Given the description of an element on the screen output the (x, y) to click on. 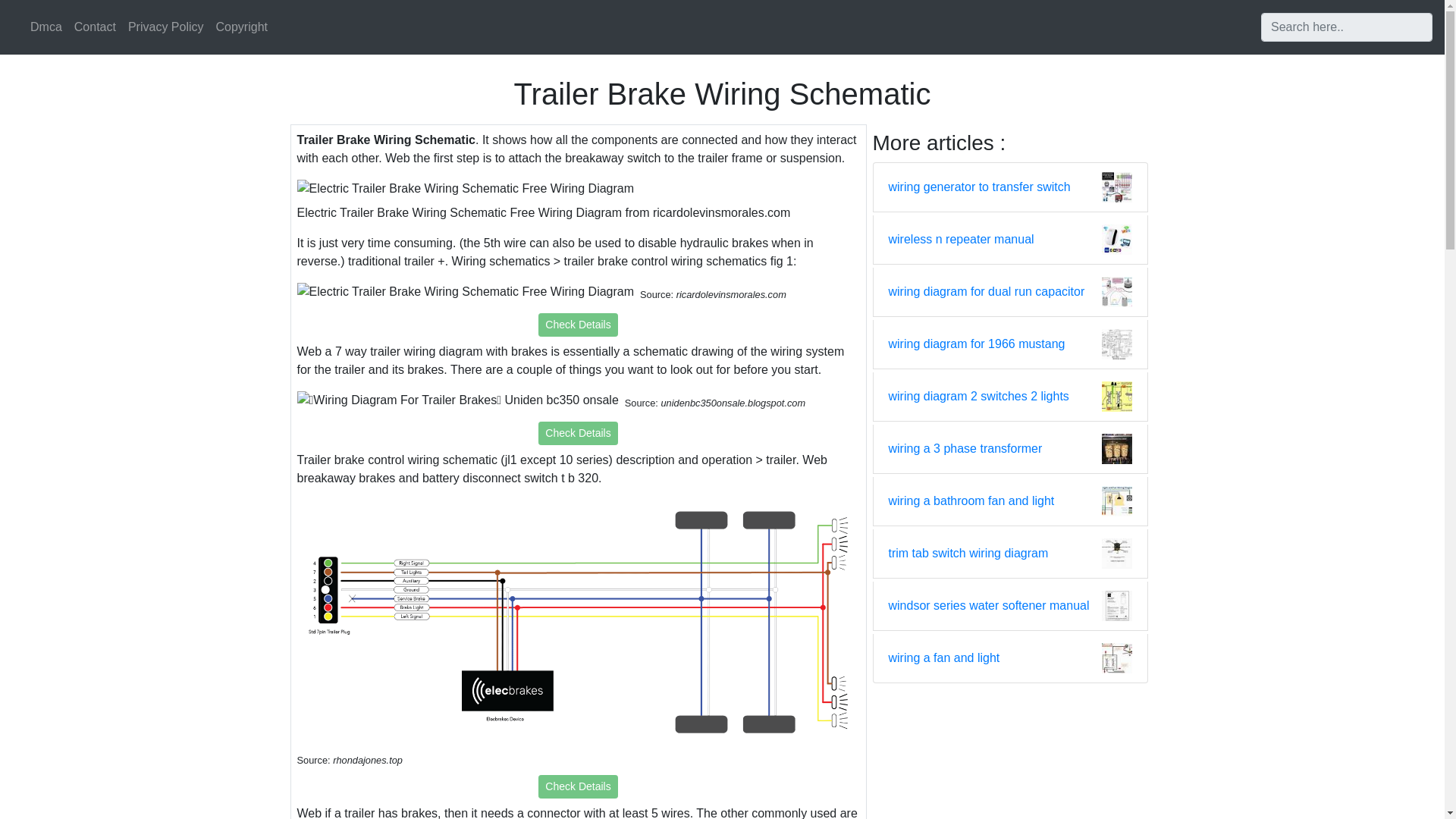
wiring diagram 2 switches 2 lights (978, 396)
Privacy Policy (165, 27)
wireless n repeater manual (960, 239)
windsor series water softener manual (988, 606)
Contact (95, 27)
wiring diagram for dual run capacitor (986, 291)
wiring diagram for 1966 mustang (976, 343)
Check Details (577, 433)
Dmca (46, 27)
wiring a fan and light (944, 658)
